Given the description of an element on the screen output the (x, y) to click on. 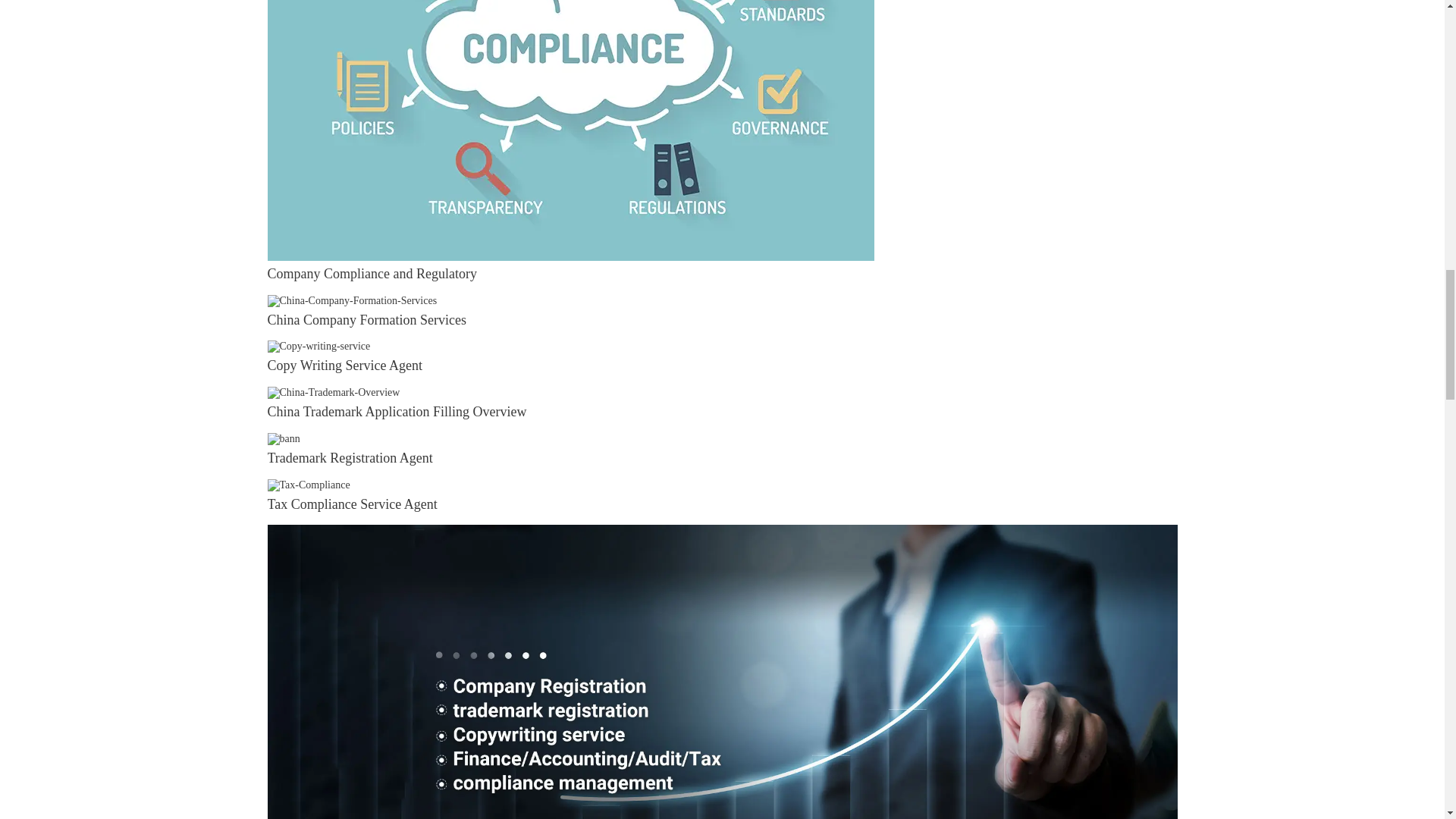
China Trademark Application Filling Overview (395, 411)
Trademark Registration Agent (282, 437)
China Trademark Application Filling Overview (332, 391)
Company Compliance and Regulatory (371, 273)
Company Compliance and Regulatory (371, 273)
Copy Writing Service Agent (344, 365)
China Trademark Application Filling Overview (395, 411)
Company Compliance and Regulatory (569, 31)
Copy Writing Service Agent (344, 365)
China Company Formation Services (351, 299)
China Company Formation Services (365, 319)
Trademark Registration Agent (349, 458)
Copy Writing Service Agent (317, 346)
China Company Formation Services (365, 319)
